Given the description of an element on the screen output the (x, y) to click on. 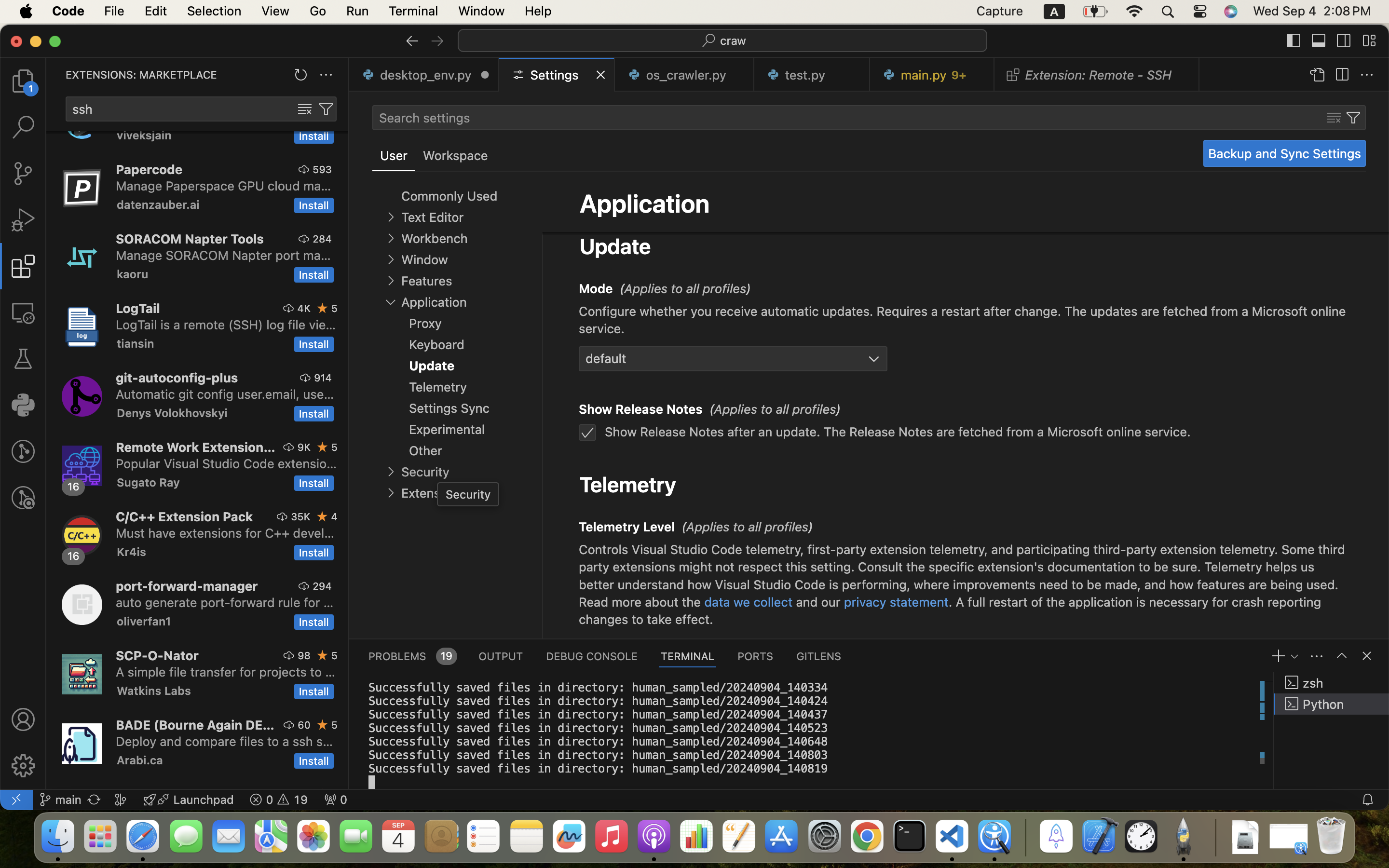
Window Element type: AXStaticText (424, 259)
Text Editor Element type: AXStaticText (432, 217)
Manage SORACOM Napter port mappings from Visual Studio Code. Element type: AXStaticText (222, 254)
Arabi.ca Element type: AXStaticText (139, 759)
tiansin Element type: AXStaticText (135, 343)
